Given the description of an element on the screen output the (x, y) to click on. 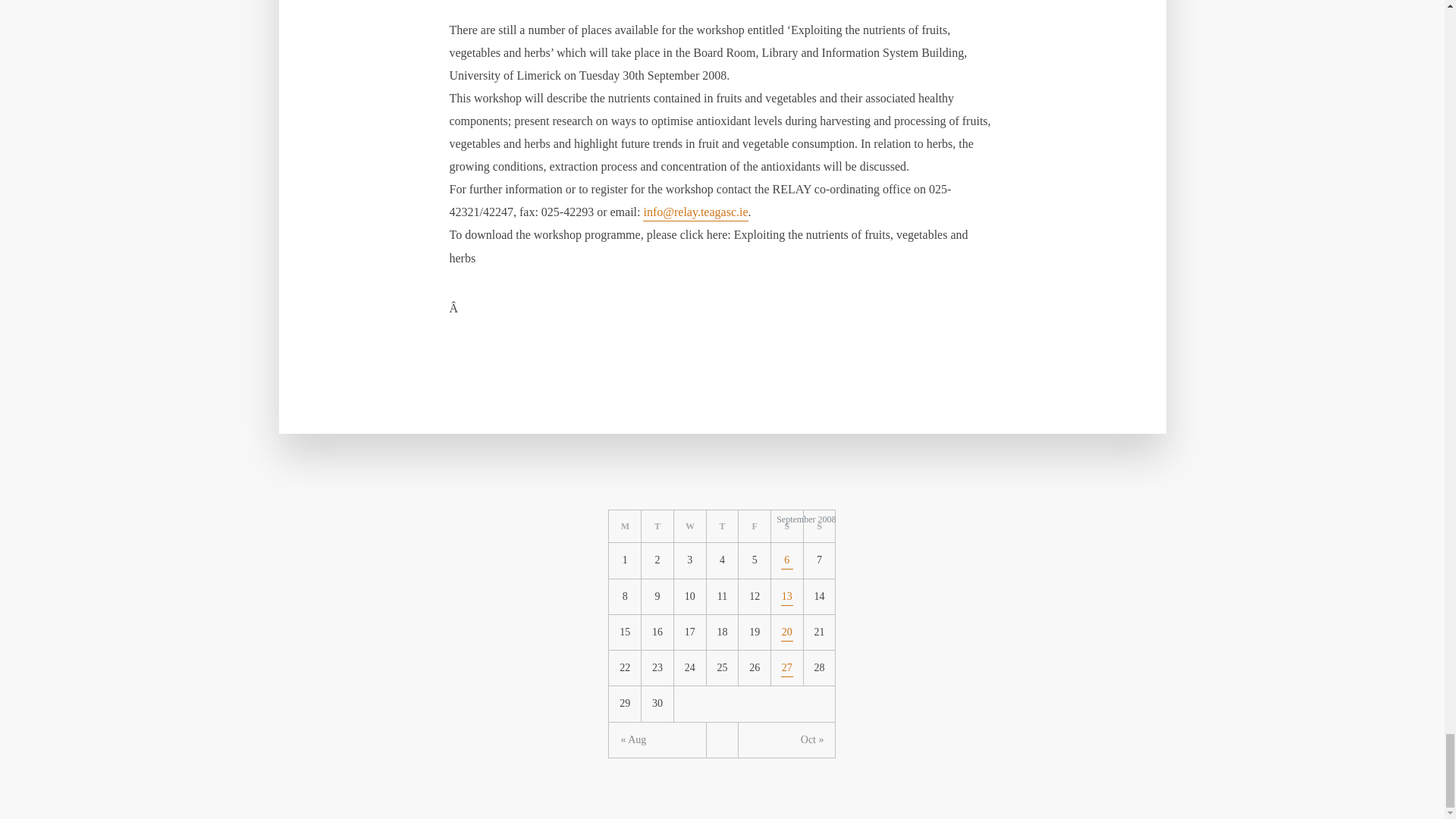
Thursday (722, 526)
Saturday (787, 526)
Monday (625, 526)
Tuesday (658, 526)
Wednesday (690, 526)
Friday (754, 526)
Sunday (819, 526)
